Given the description of an element on the screen output the (x, y) to click on. 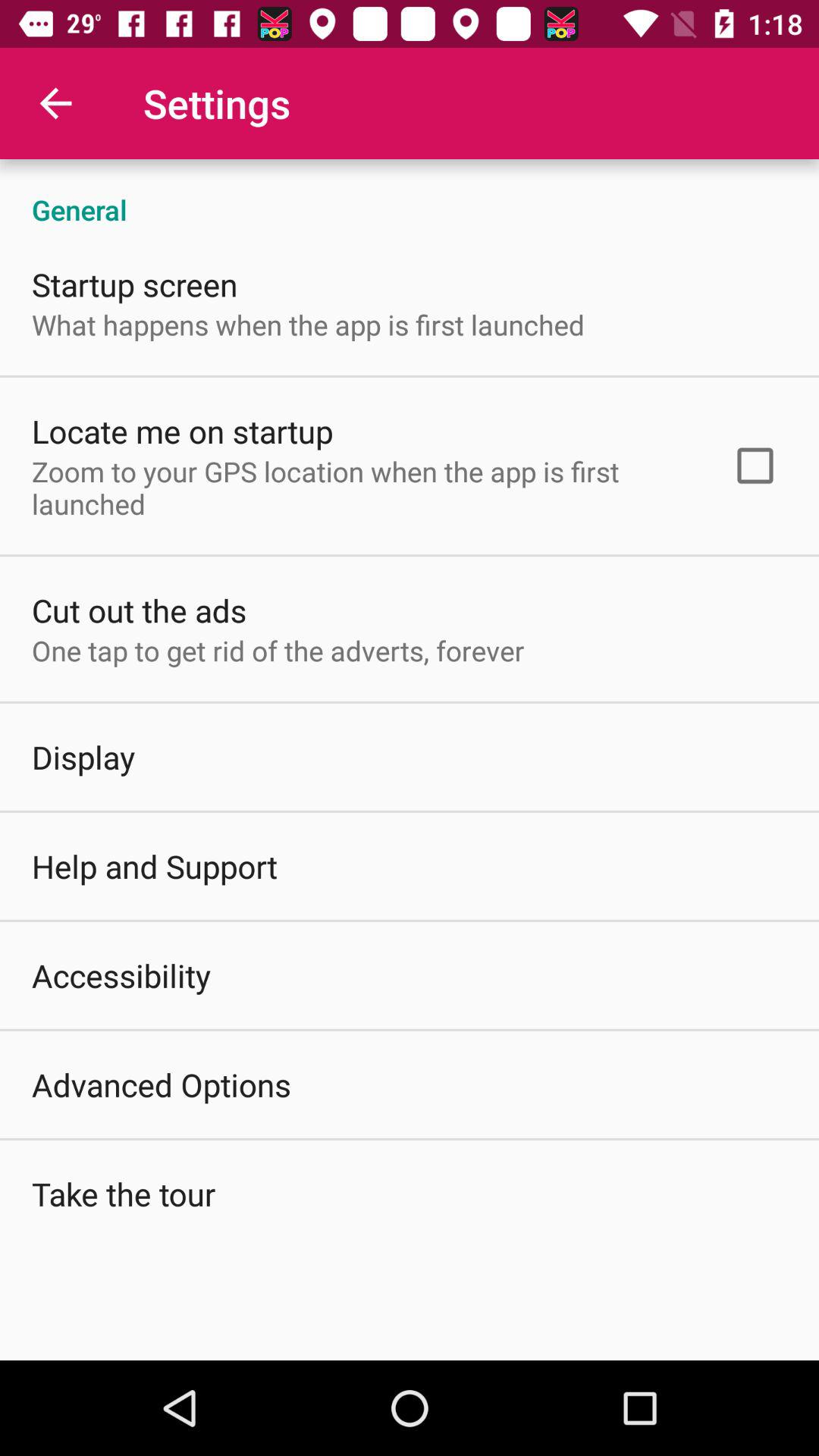
press the item above the accessibility icon (154, 865)
